Given the description of an element on the screen output the (x, y) to click on. 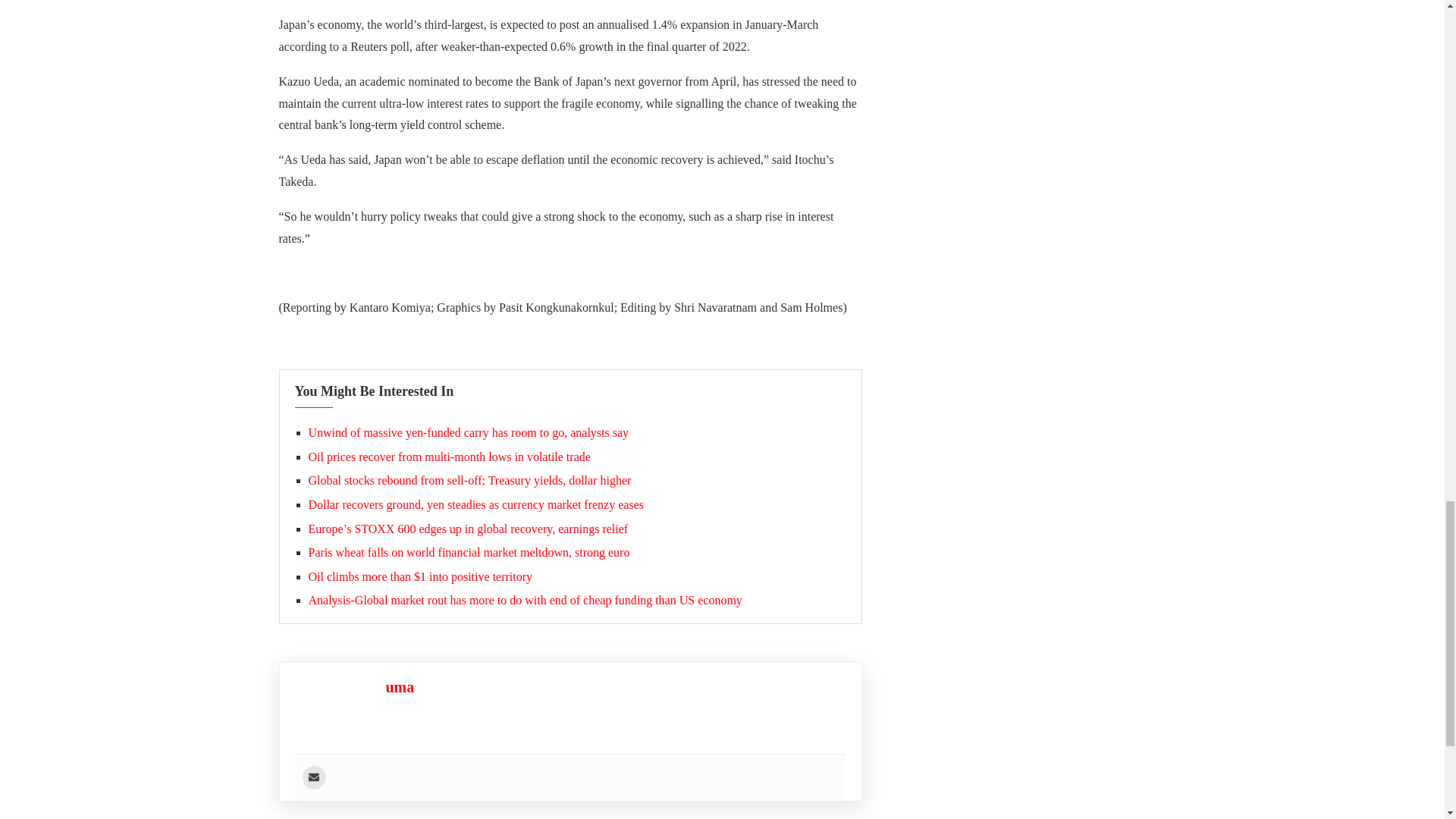
uma (399, 686)
User email (312, 777)
Oil prices recover from multi-month lows in volatile trade (448, 456)
